Given the description of an element on the screen output the (x, y) to click on. 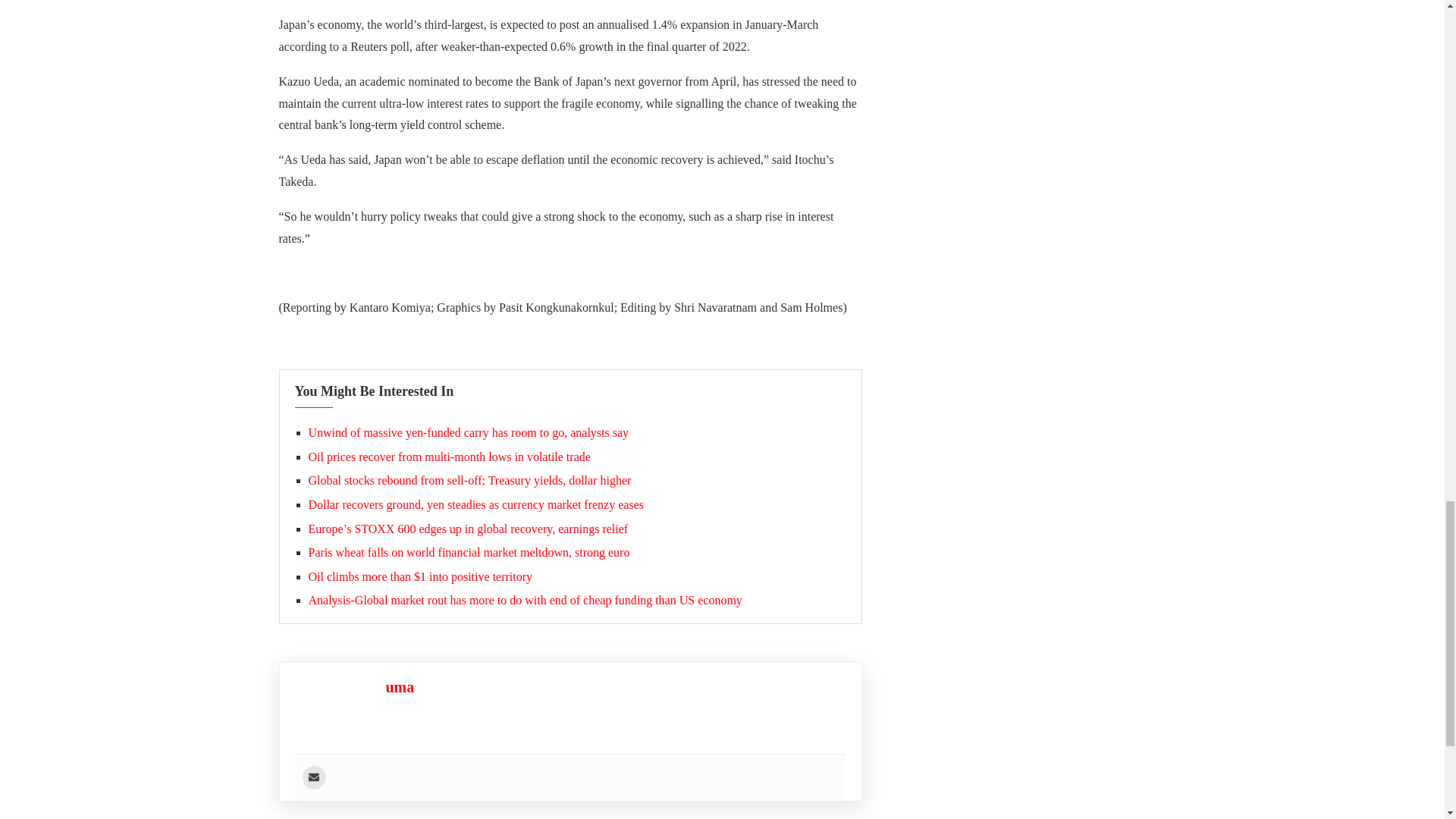
uma (399, 686)
User email (312, 777)
Oil prices recover from multi-month lows in volatile trade (448, 456)
